Given the description of an element on the screen output the (x, y) to click on. 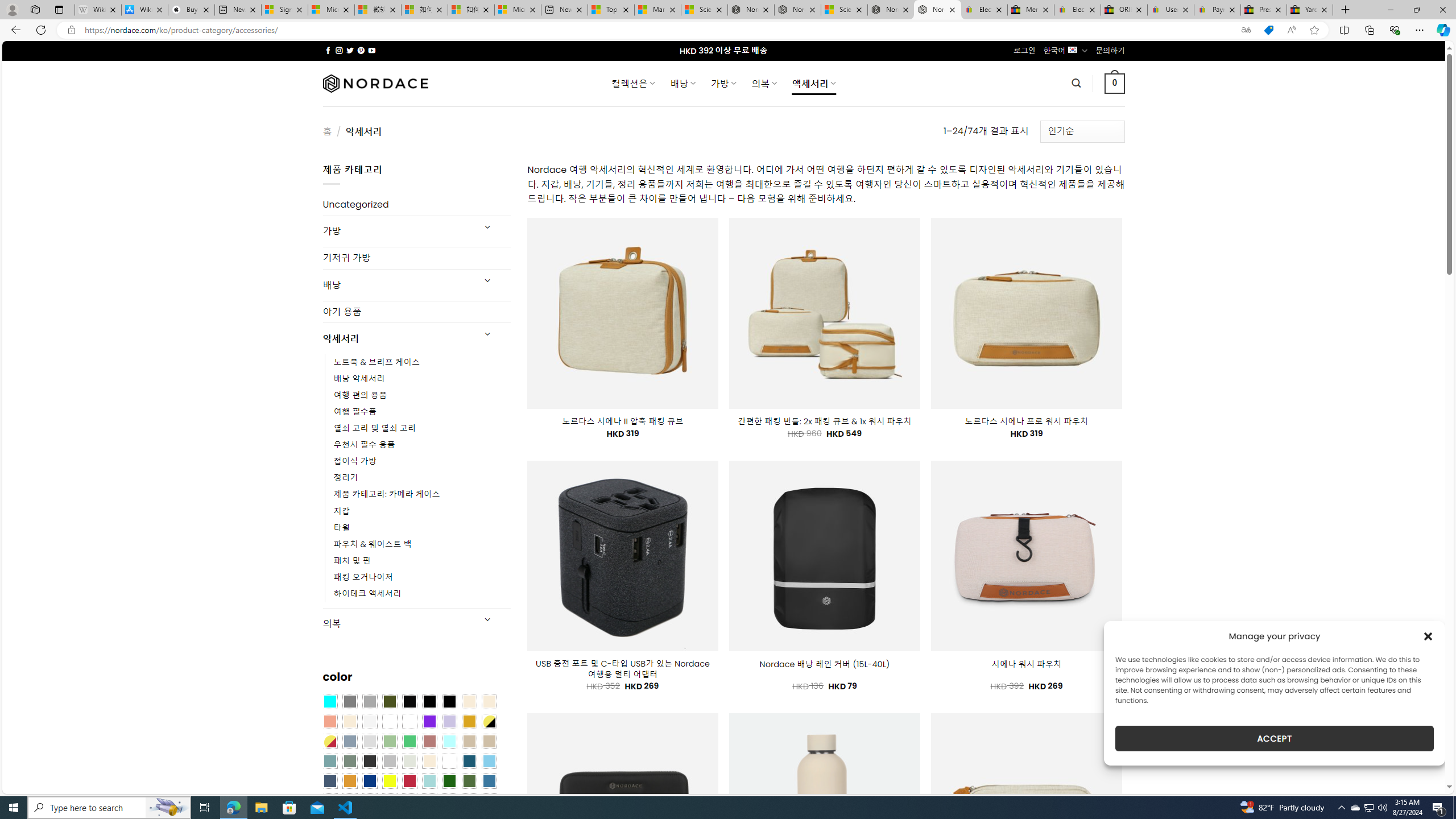
Microsoft account | Account Checkup (517, 9)
Follow on Facebook (327, 50)
